Given the description of an element on the screen output the (x, y) to click on. 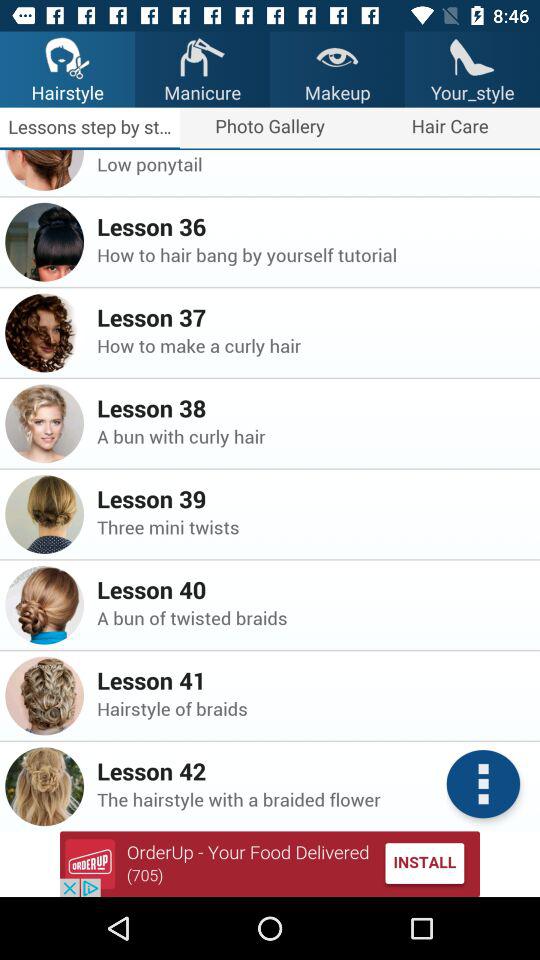
tap app above a bun with app (311, 408)
